Given the description of an element on the screen output the (x, y) to click on. 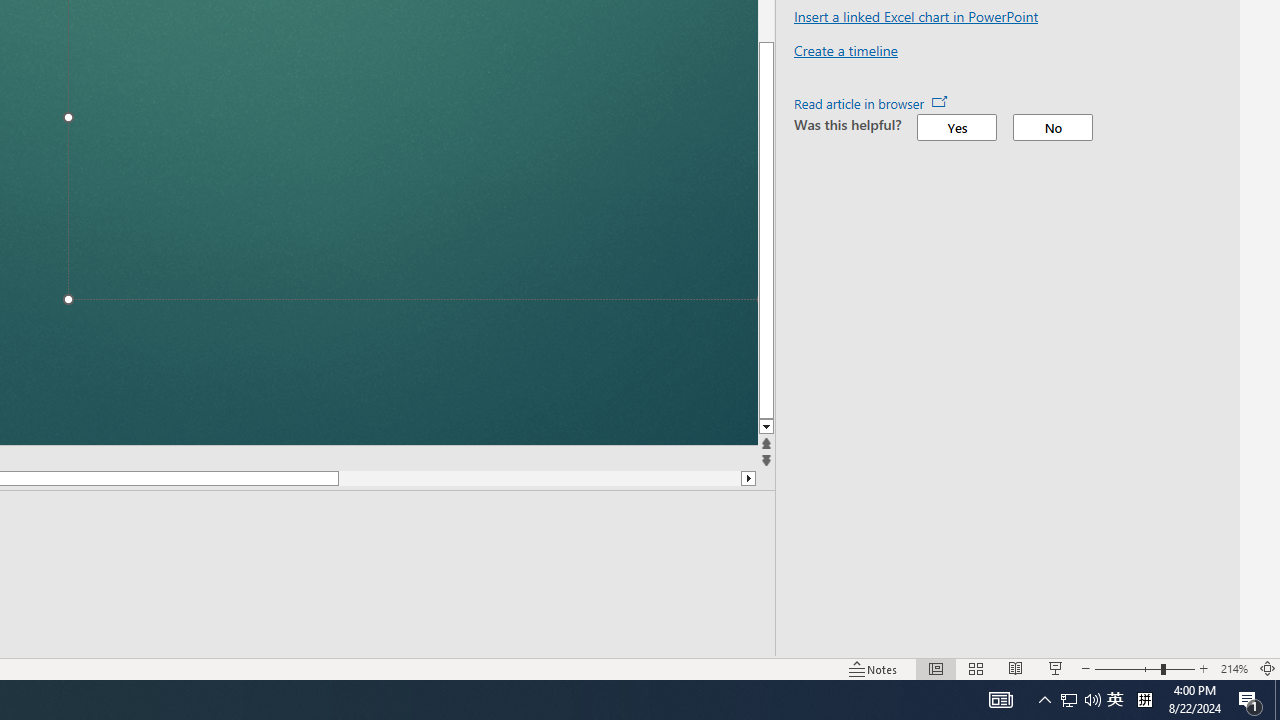
Read article in browser (870, 103)
Yes (956, 127)
No (1052, 127)
openinnewwindow icon (939, 100)
Create a timeline (845, 50)
Insert a linked Excel chart in PowerPoint (915, 16)
Zoom 214% (1234, 668)
